Given the description of an element on the screen output the (x, y) to click on. 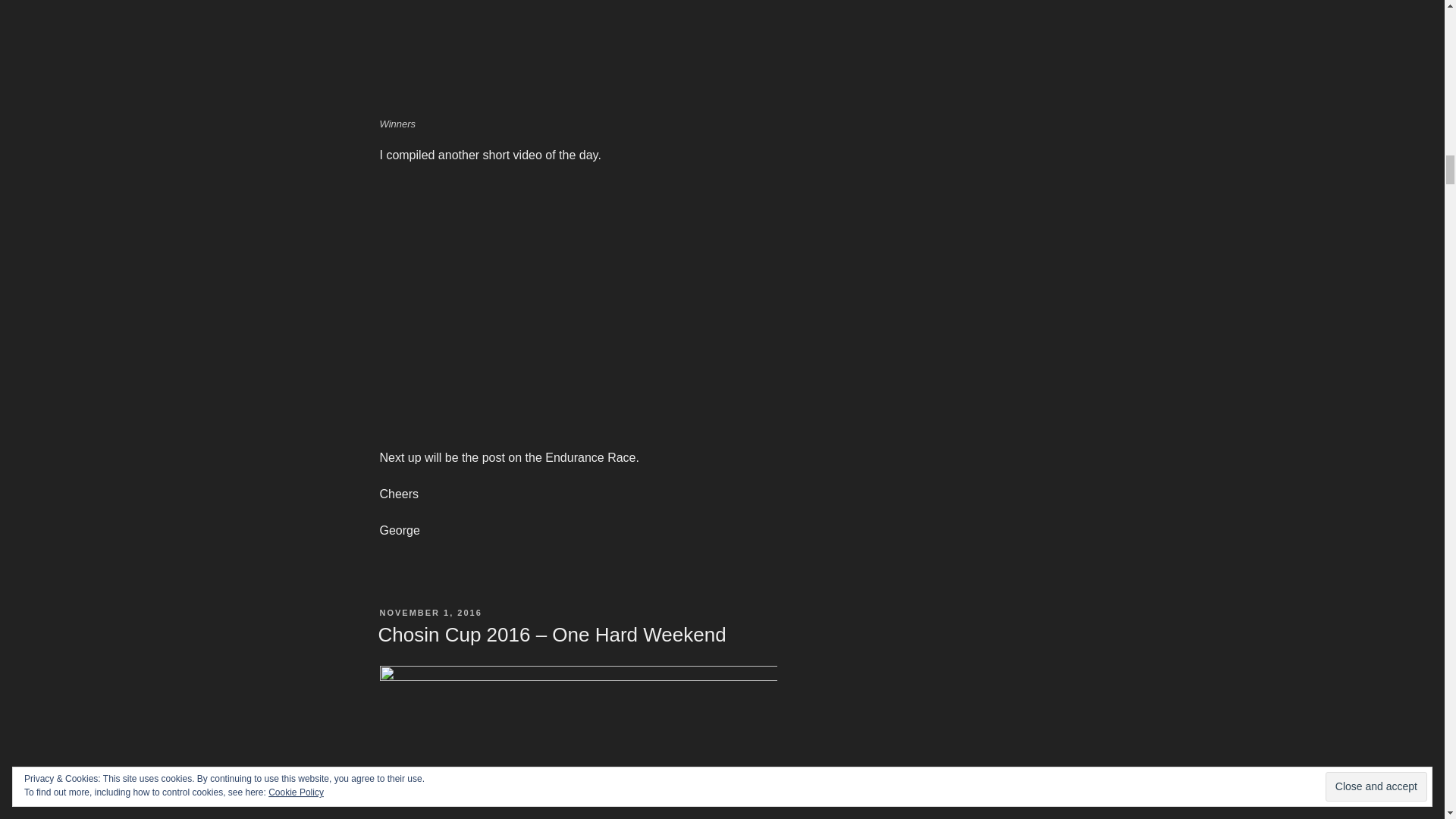
NOVEMBER 1, 2016 (429, 612)
